Given the description of an element on the screen output the (x, y) to click on. 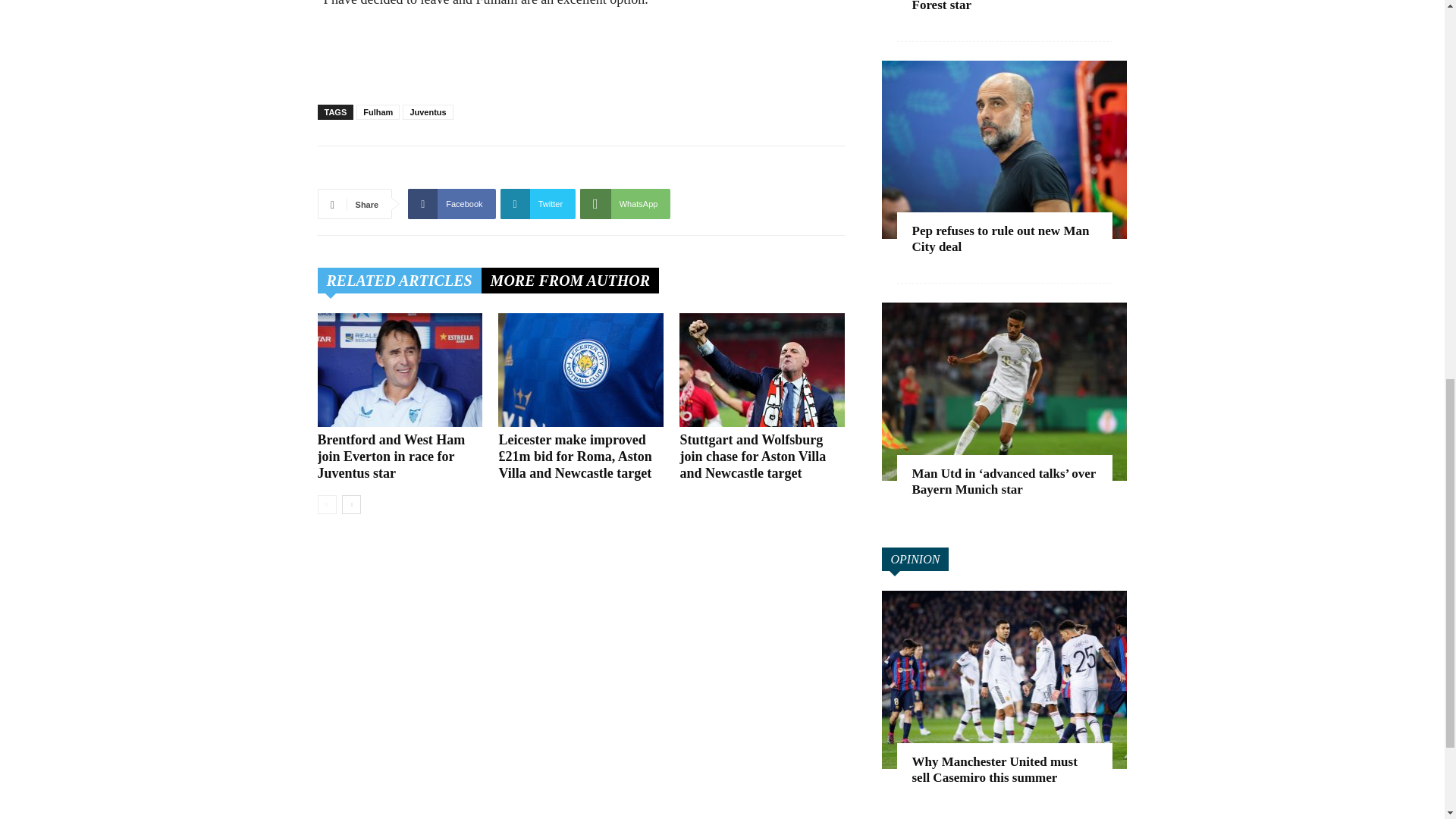
Juventus (427, 111)
bottomFacebookLike (430, 170)
Twitter (538, 204)
WhatsApp (624, 204)
Fulham (377, 111)
Facebook (451, 204)
